Given the description of an element on the screen output the (x, y) to click on. 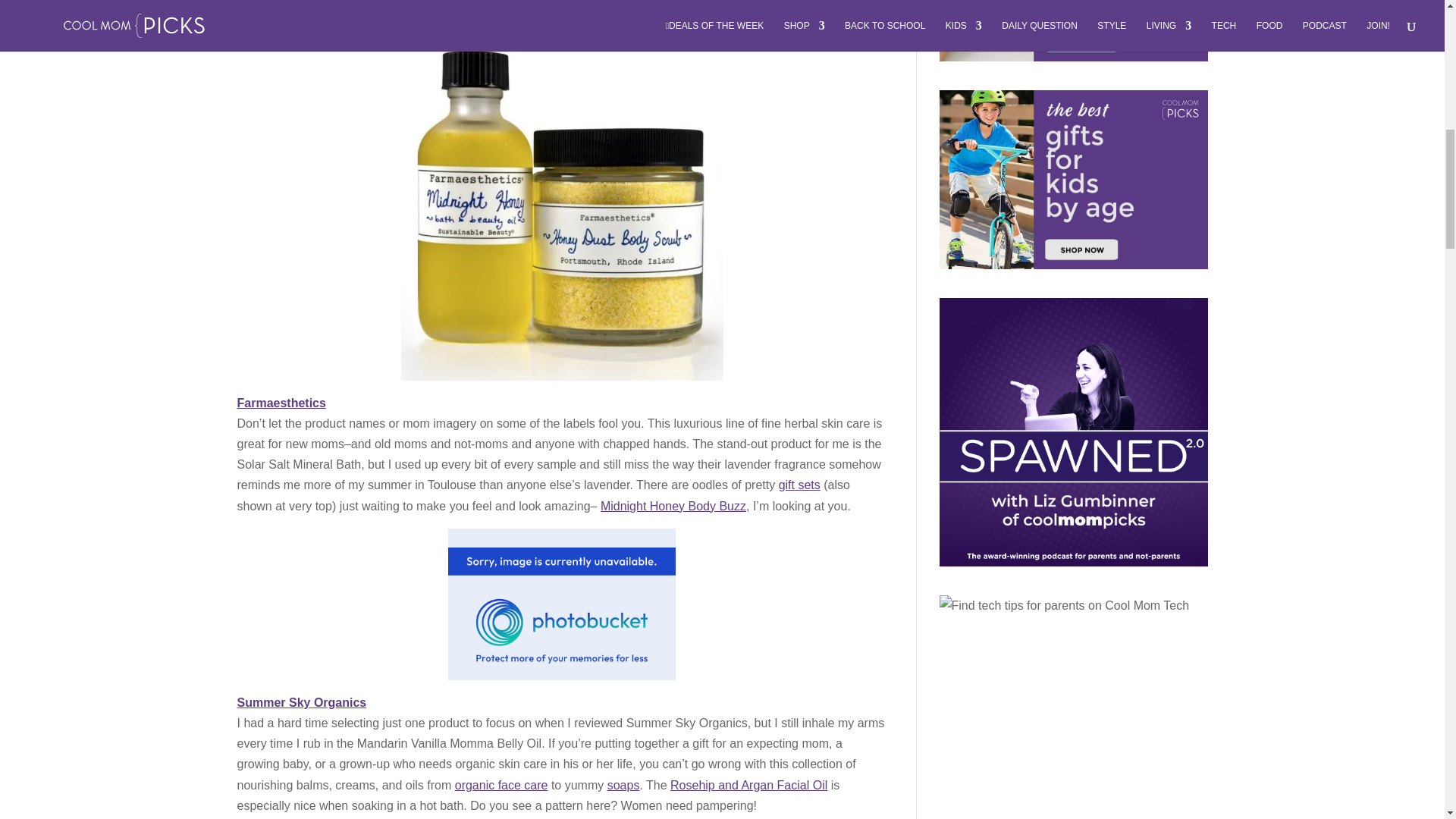
natural bath bar soaps from Summer Sky Organics (623, 784)
Summer Sky Organics skin care on Cool Mom Picks (300, 702)
organic face care from Summer Sky Organics (501, 784)
Rosehip and Argan Facial oil from Summer Sky Organics (748, 784)
Gift Sets from Farmaesthetics (799, 484)
Midnight Honey Body Buzz Gift Set from Farmaesthetics (672, 505)
